Given the description of an element on the screen output the (x, y) to click on. 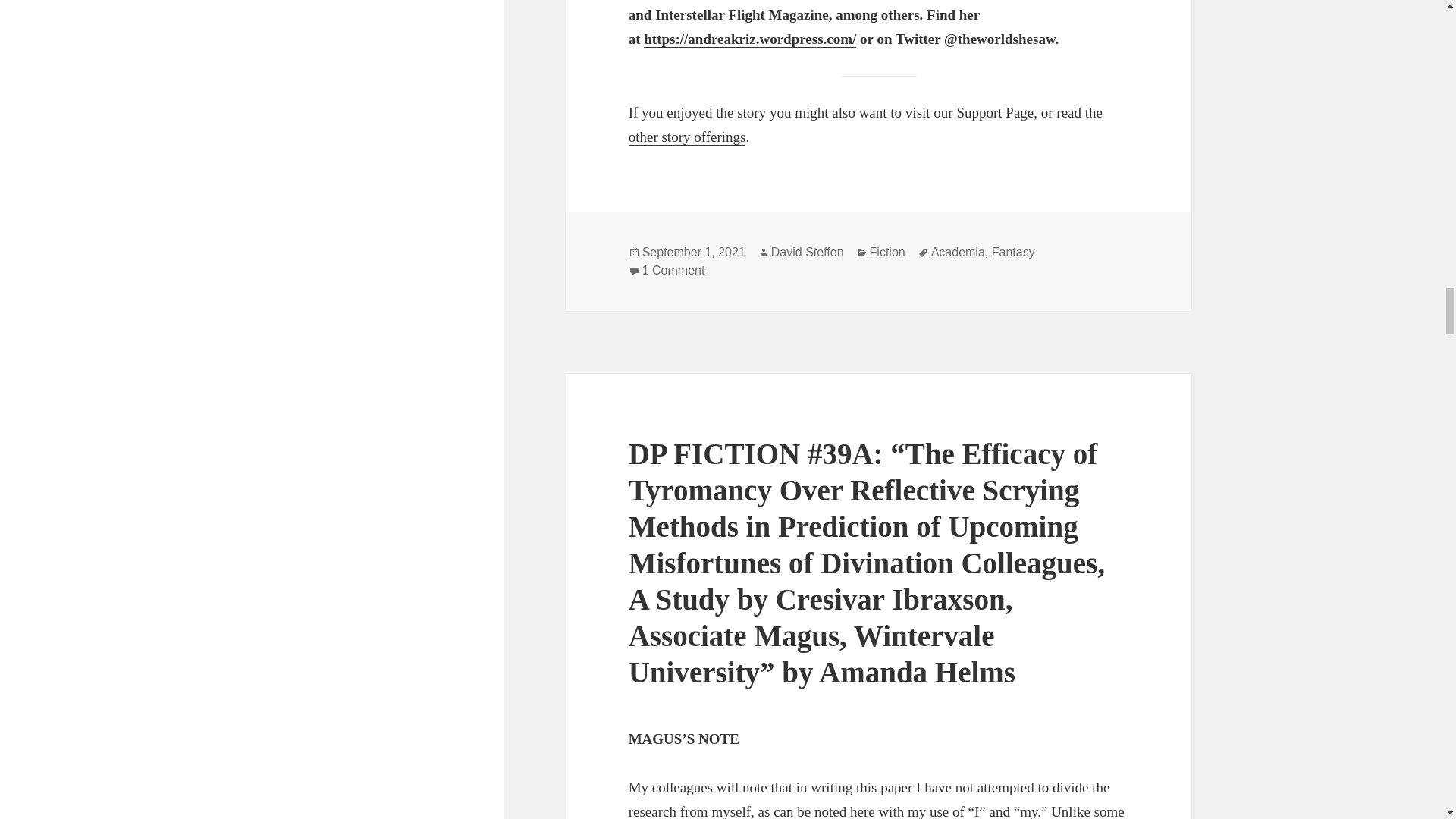
Fantasy (1013, 252)
read the other story offerings (865, 124)
September 1, 2021 (693, 252)
David Steffen (807, 252)
Fiction (887, 252)
Academia (958, 252)
Support Page (994, 112)
